Given the description of an element on the screen output the (x, y) to click on. 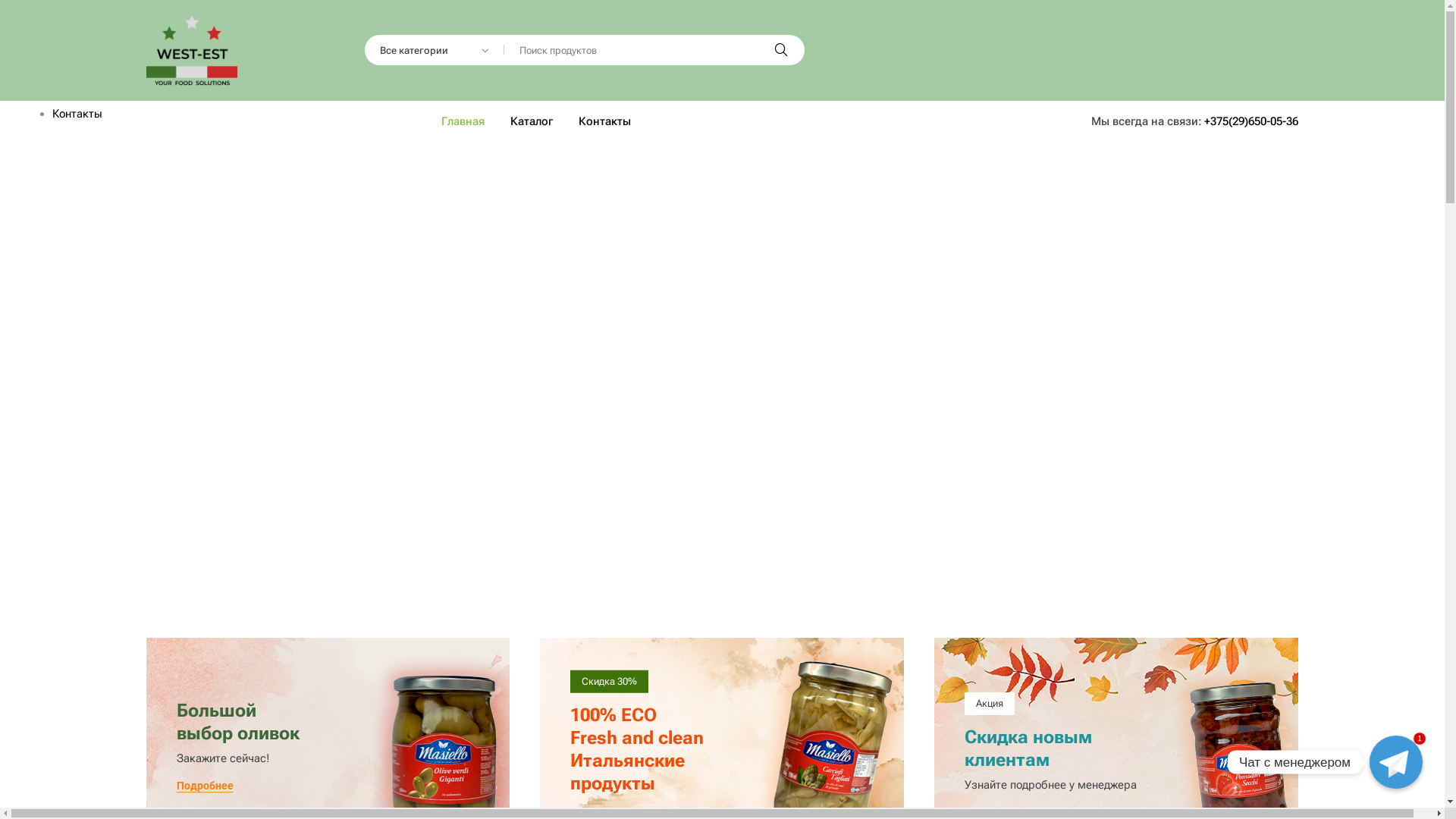
Gift Cards Element type: text (77, 74)
+375(29)650-05-36 Element type: text (1251, 121)
search Element type: text (780, 49)
FAQs Element type: text (65, 94)
